Given the description of an element on the screen output the (x, y) to click on. 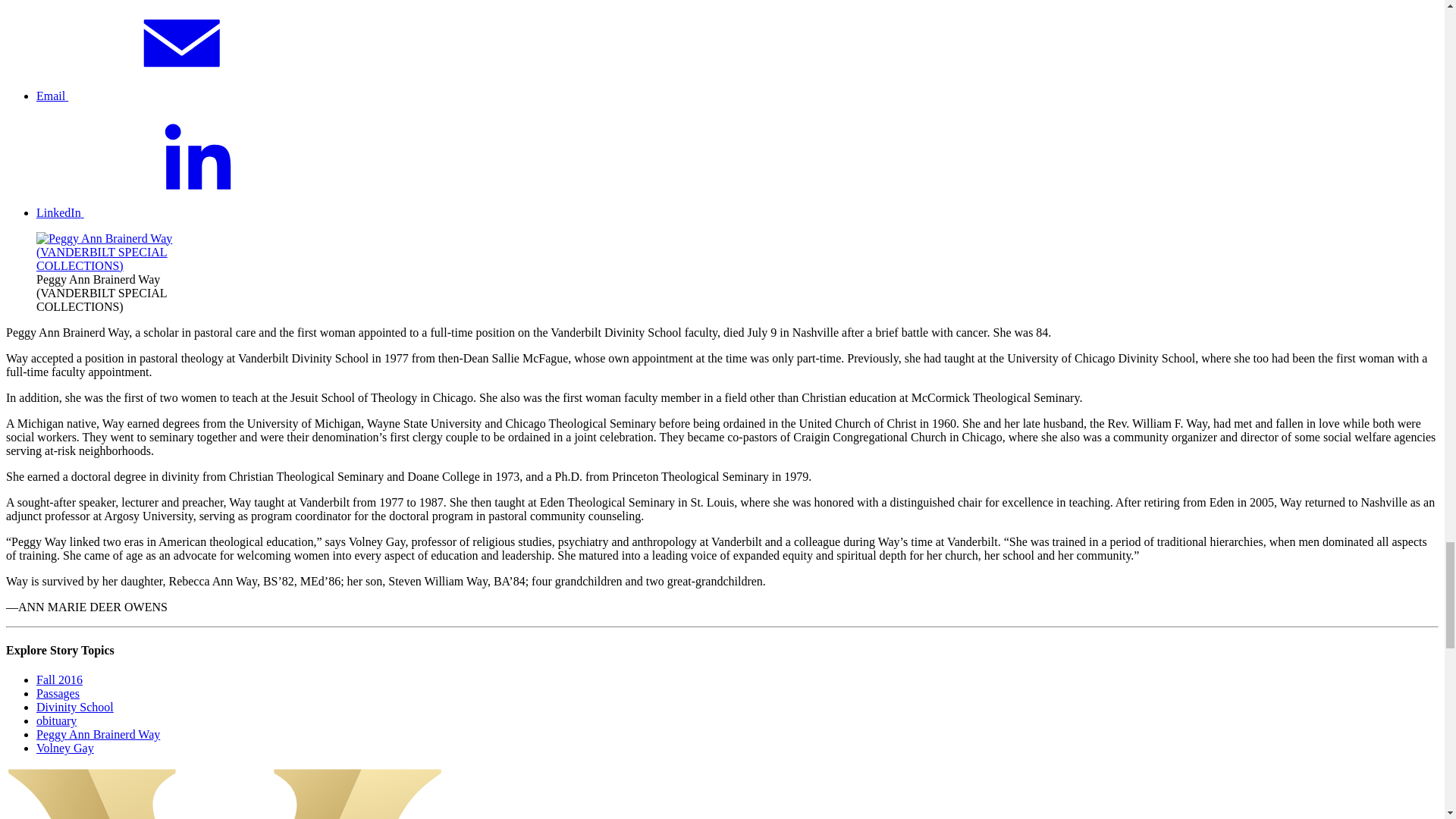
obituary (56, 720)
Passages (58, 693)
Divinity School (74, 707)
LinkedIn (173, 212)
Volney Gay (65, 748)
Fall 2016 (59, 679)
Peggy Ann Brainerd Way (98, 734)
Email (165, 95)
